Given the description of an element on the screen output the (x, y) to click on. 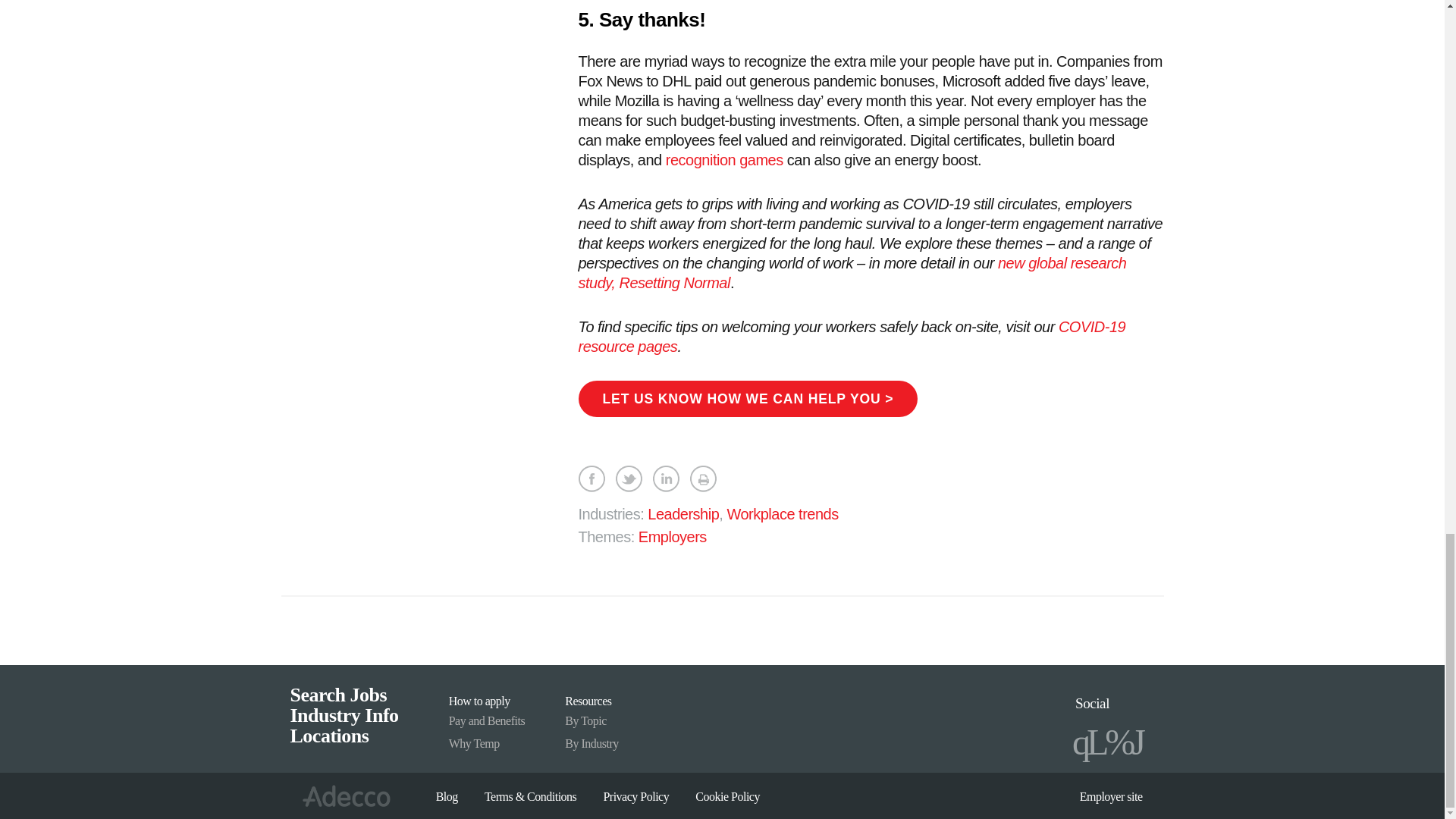
Workplace trends (782, 514)
recognition games (724, 159)
Leadership (683, 514)
COVID-19 resource pages (851, 336)
new global research study, Resetting Normal (851, 272)
